Given the description of an element on the screen output the (x, y) to click on. 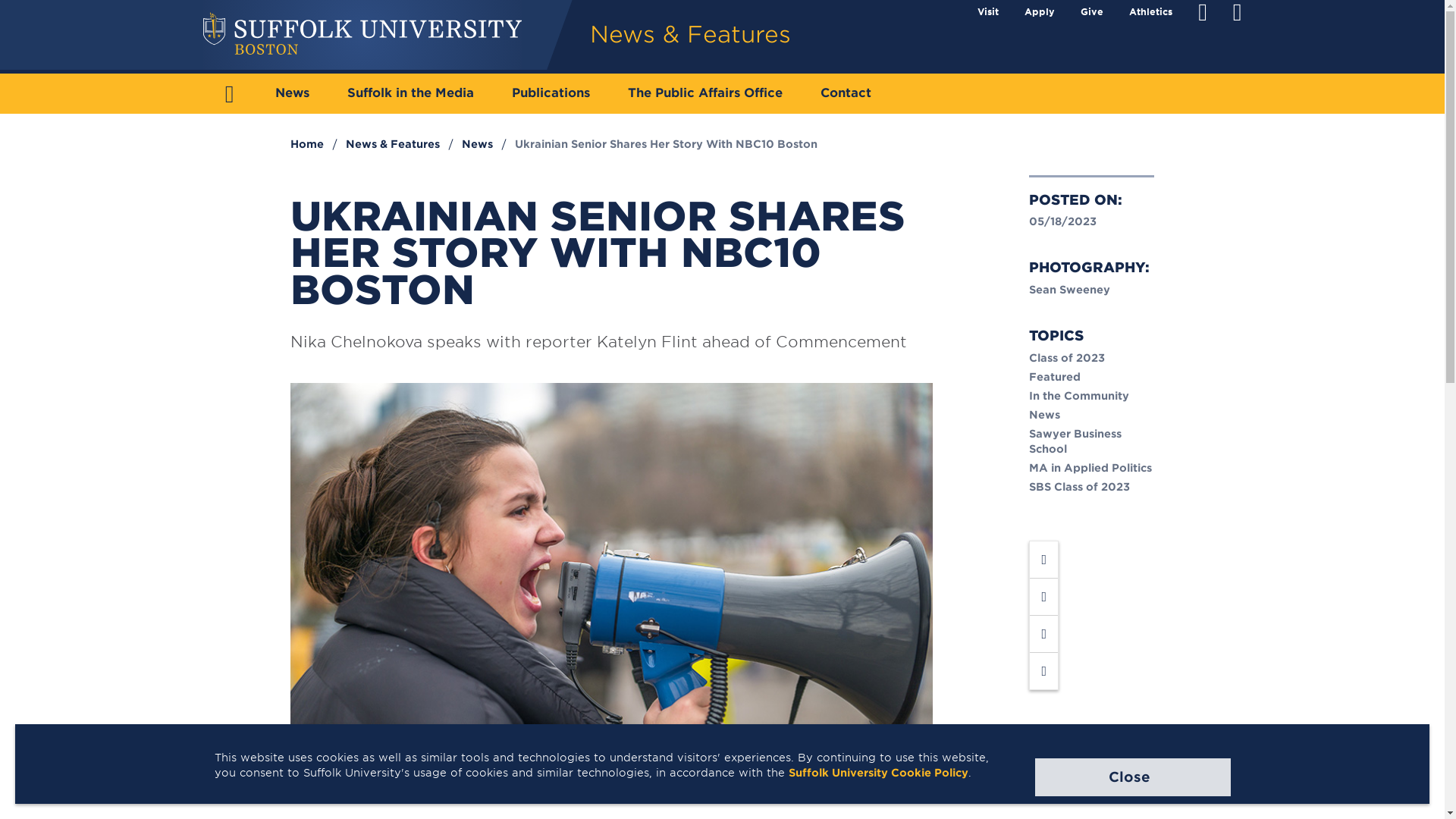
Visit (987, 11)
Athletics (1150, 11)
Give (1091, 11)
Apply (1039, 11)
